Given the description of an element on the screen output the (x, y) to click on. 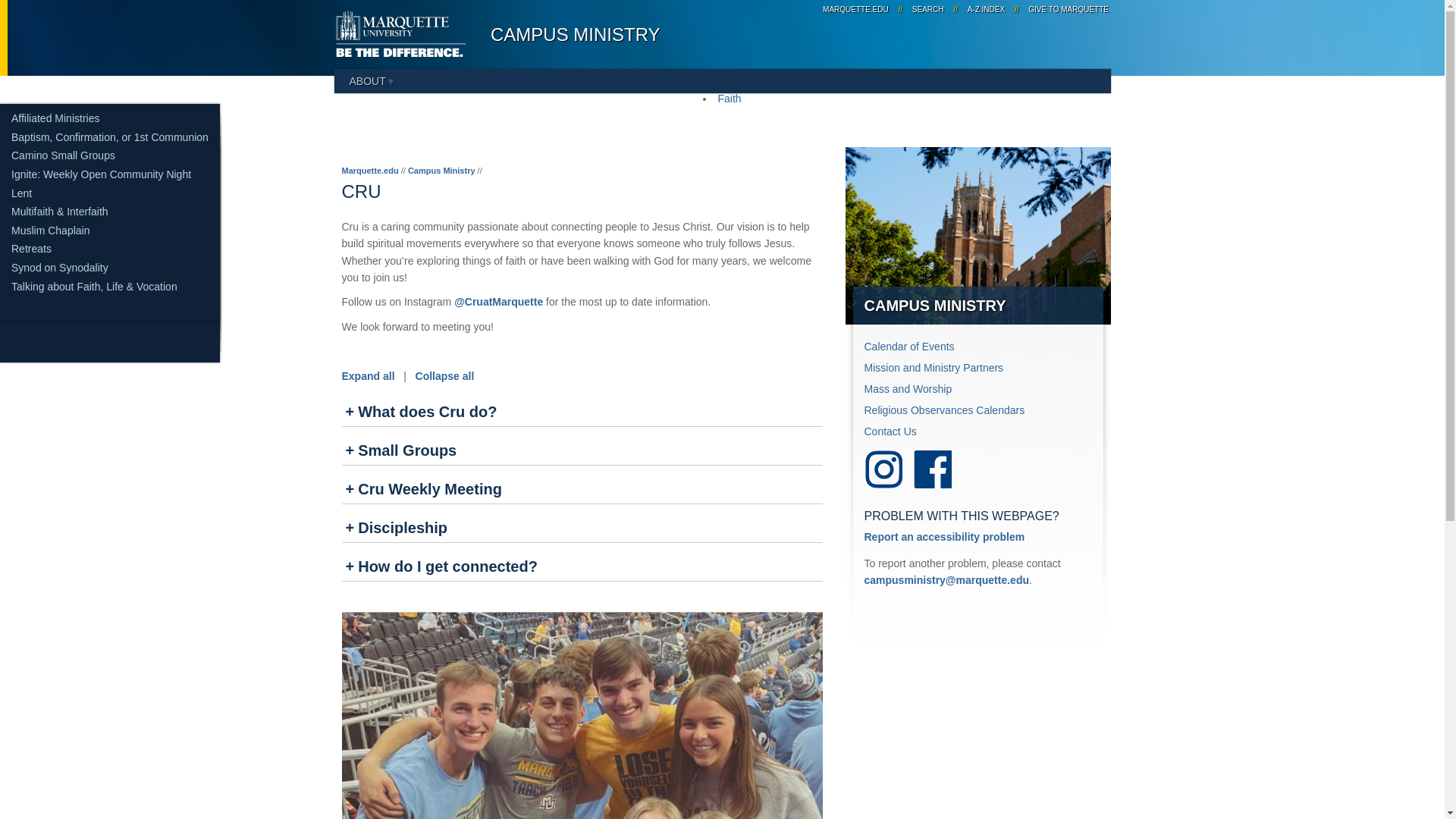
Grief Support (42, 168)
GIVE TO MARQUETTE (1066, 8)
LGBTQ and Allied Students (79, 205)
Ignite: Weekly Open Community Night (100, 174)
Retreats (30, 248)
Border Awareness Experience (47, 147)
On-Campus Worship Opportunities (93, 176)
M.A.P.: Spring Break Trips (73, 165)
Pregnancy Resources (63, 243)
Project Rachel (45, 262)
SEARCH (927, 8)
M.A.P.: El Paso (47, 147)
Lent (21, 193)
Midnight Run (42, 184)
